Given the description of an element on the screen output the (x, y) to click on. 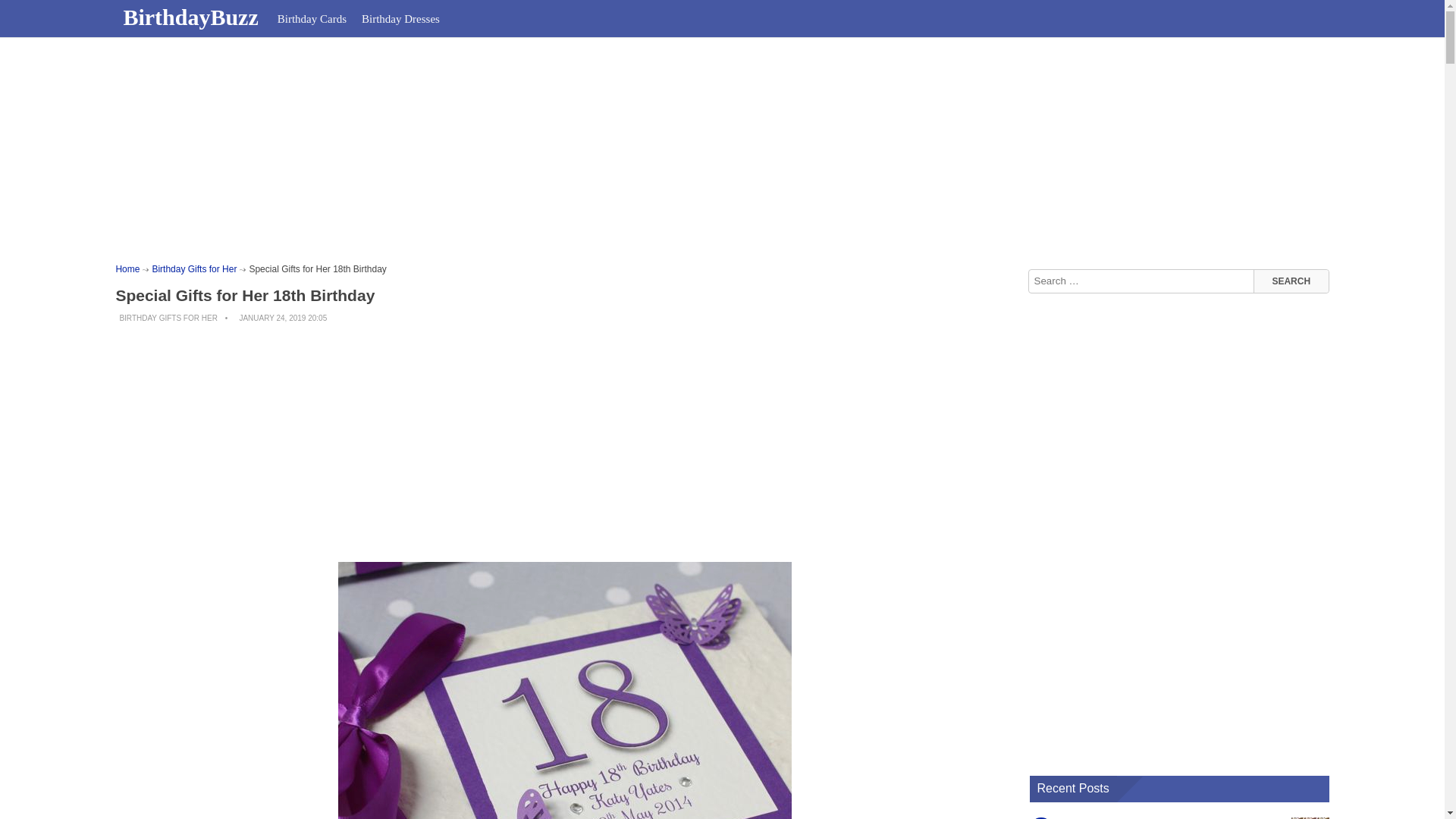
BirthdayBuzz (192, 16)
Birthday Dresses (399, 18)
Birthday Gifts for Her (193, 268)
Search (1290, 281)
Search (1290, 281)
Home (127, 268)
BIRTHDAY GIFTS FOR HER (167, 317)
Birthday Cards (311, 18)
